Given the description of an element on the screen output the (x, y) to click on. 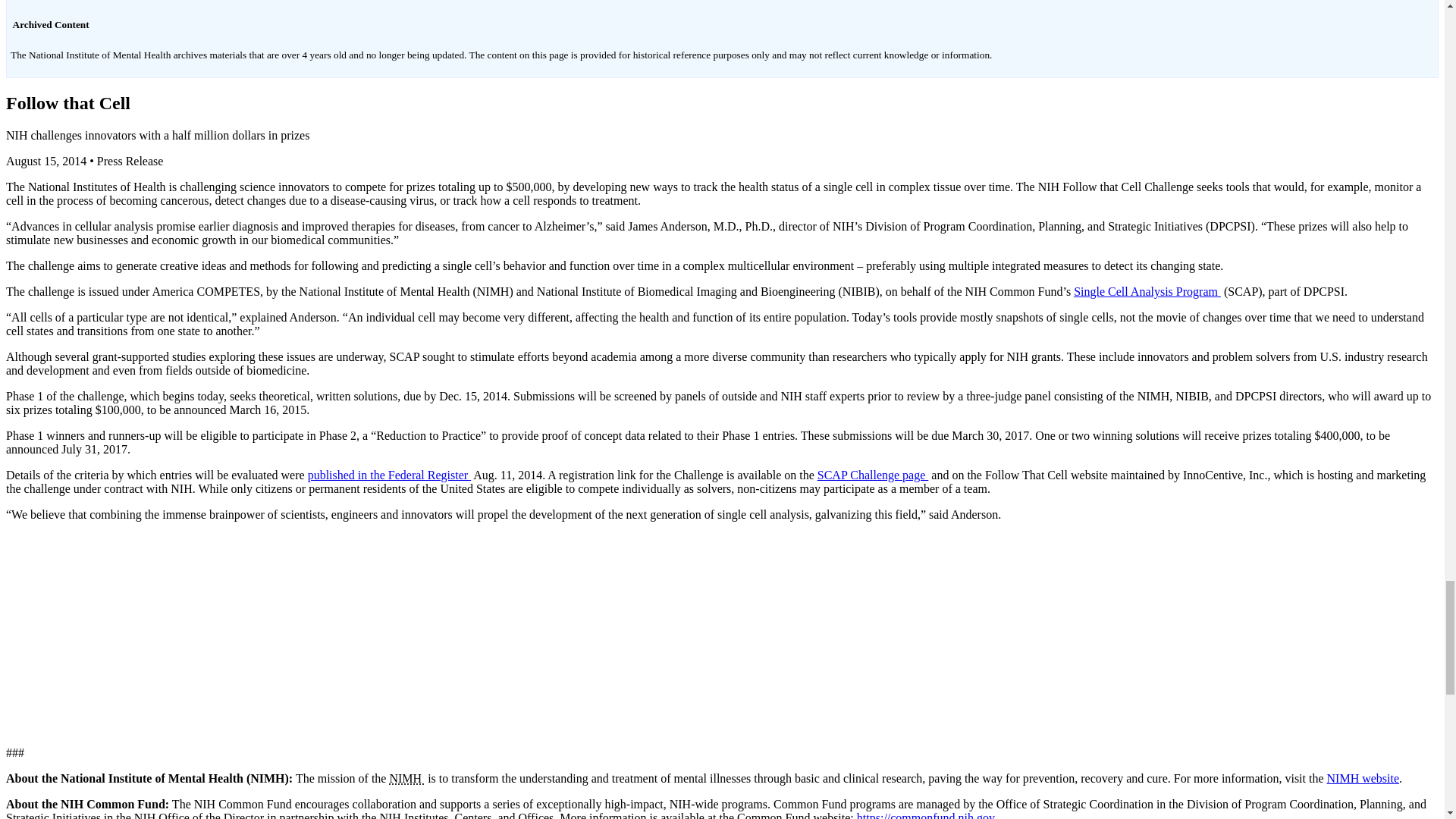
National Institute of Mental Health (406, 778)
